Given the description of an element on the screen output the (x, y) to click on. 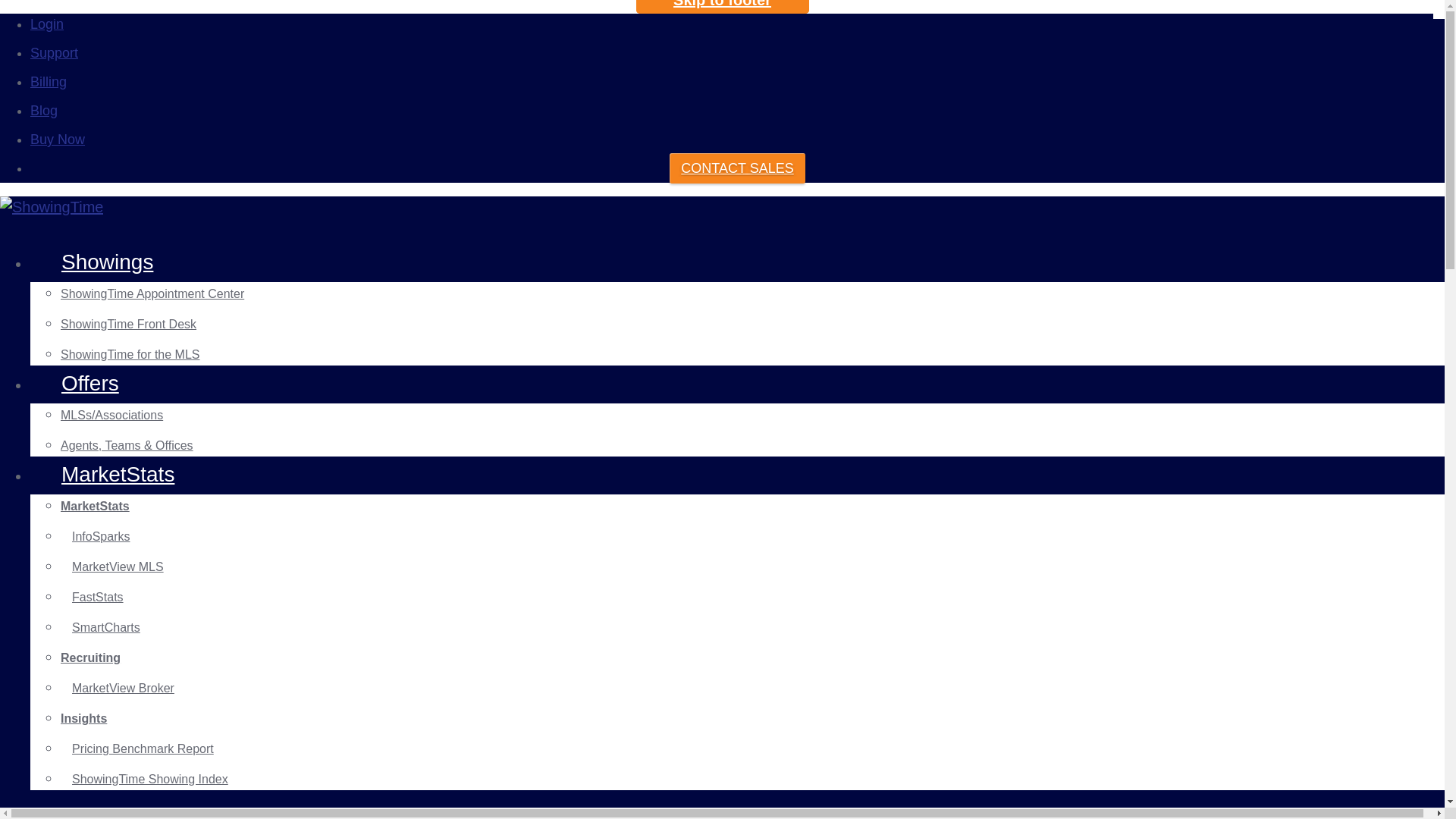
Login (47, 23)
Insights (83, 717)
CONTACT SALES (737, 168)
Offers (90, 382)
FastStats (97, 596)
Buy Now (57, 139)
Billing (48, 81)
ShowingTime Showing Index (149, 779)
MarketStats (117, 474)
Blog (44, 110)
